Given the description of an element on the screen output the (x, y) to click on. 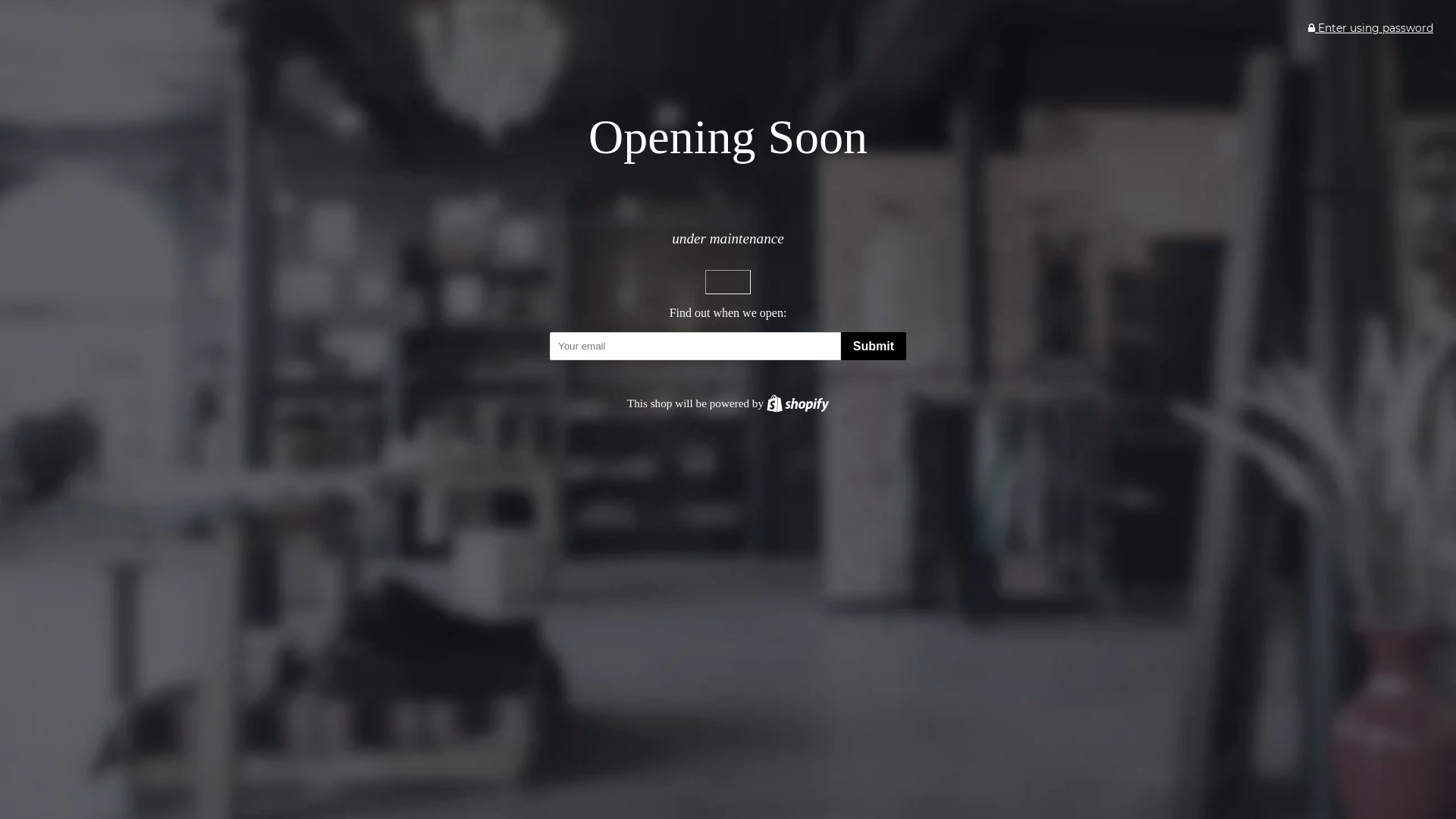
Submit Element type: text (873, 346)
Shopify logo
Shopify Element type: text (797, 402)
Enter using password Element type: text (1370, 27)
